Given the description of an element on the screen output the (x, y) to click on. 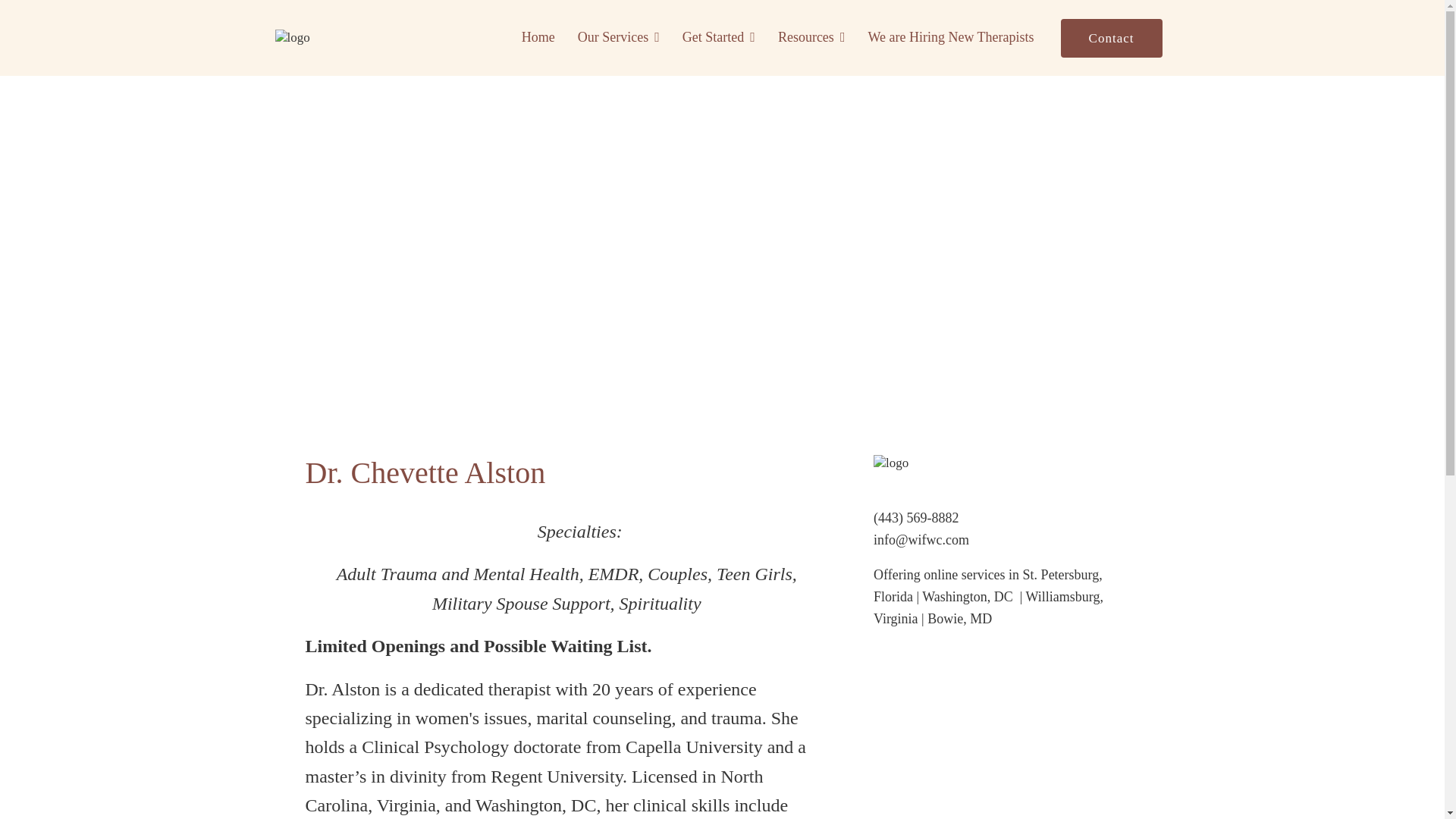
Resources (811, 37)
We are Hiring New Therapists (950, 37)
Contact (1111, 37)
Home (537, 37)
Get Started (718, 37)
Our Services (618, 37)
